Given the description of an element on the screen output the (x, y) to click on. 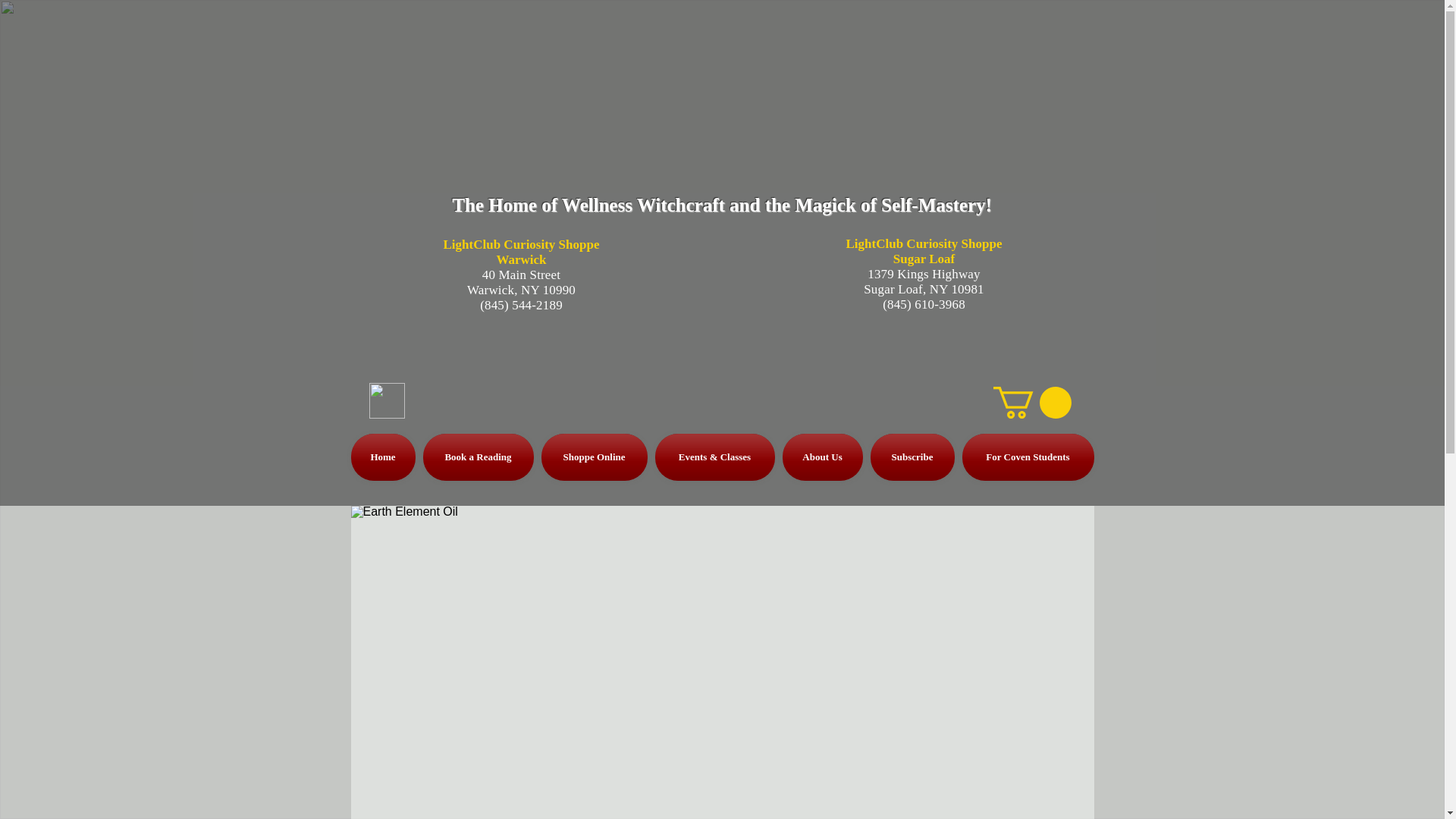
eMail LightClub (386, 400)
About Us (821, 457)
For Coven Students (1026, 457)
Subscribe (912, 457)
Book a Reading (478, 457)
Home (384, 457)
Shoppe Online (593, 457)
